Given the description of an element on the screen output the (x, y) to click on. 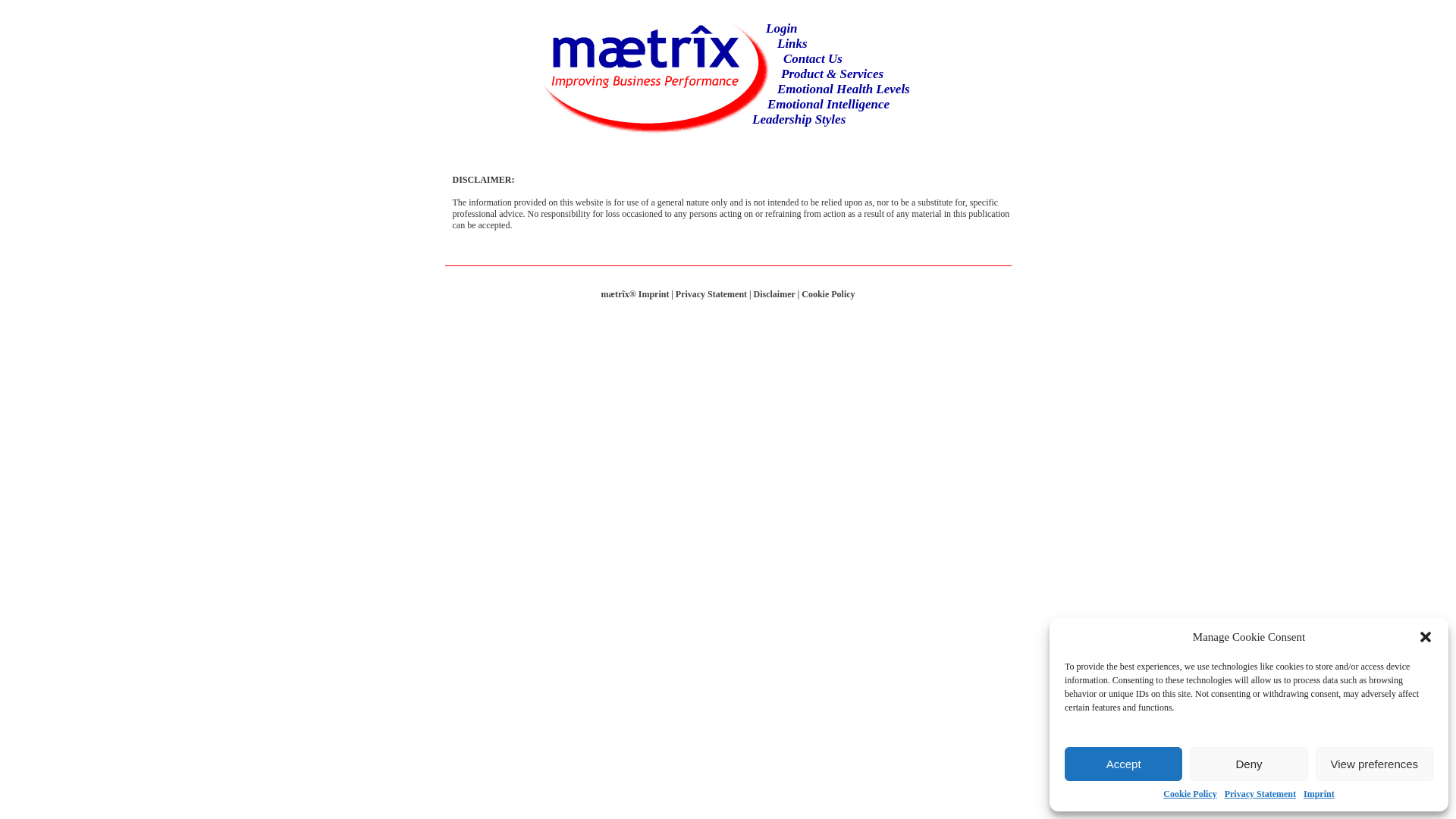
Privacy Statement Element type: text (710, 293)
Emotional Intelligence Element type: text (828, 104)
Disclaimer Element type: text (774, 293)
Cookie Policy Element type: text (1189, 794)
Imprint Element type: text (1318, 794)
Contact Us Element type: text (812, 58)
Emotional Health Levels Element type: text (843, 89)
Leadership Styles Element type: text (798, 119)
Accept Element type: text (1123, 763)
Links Element type: text (792, 43)
View preferences Element type: text (1374, 763)
Login Element type: text (781, 28)
Cookie Policy Element type: text (827, 293)
Privacy Statement Element type: text (1259, 794)
Deny Element type: text (1248, 763)
Product & Services Element type: text (832, 73)
